Given the description of an element on the screen output the (x, y) to click on. 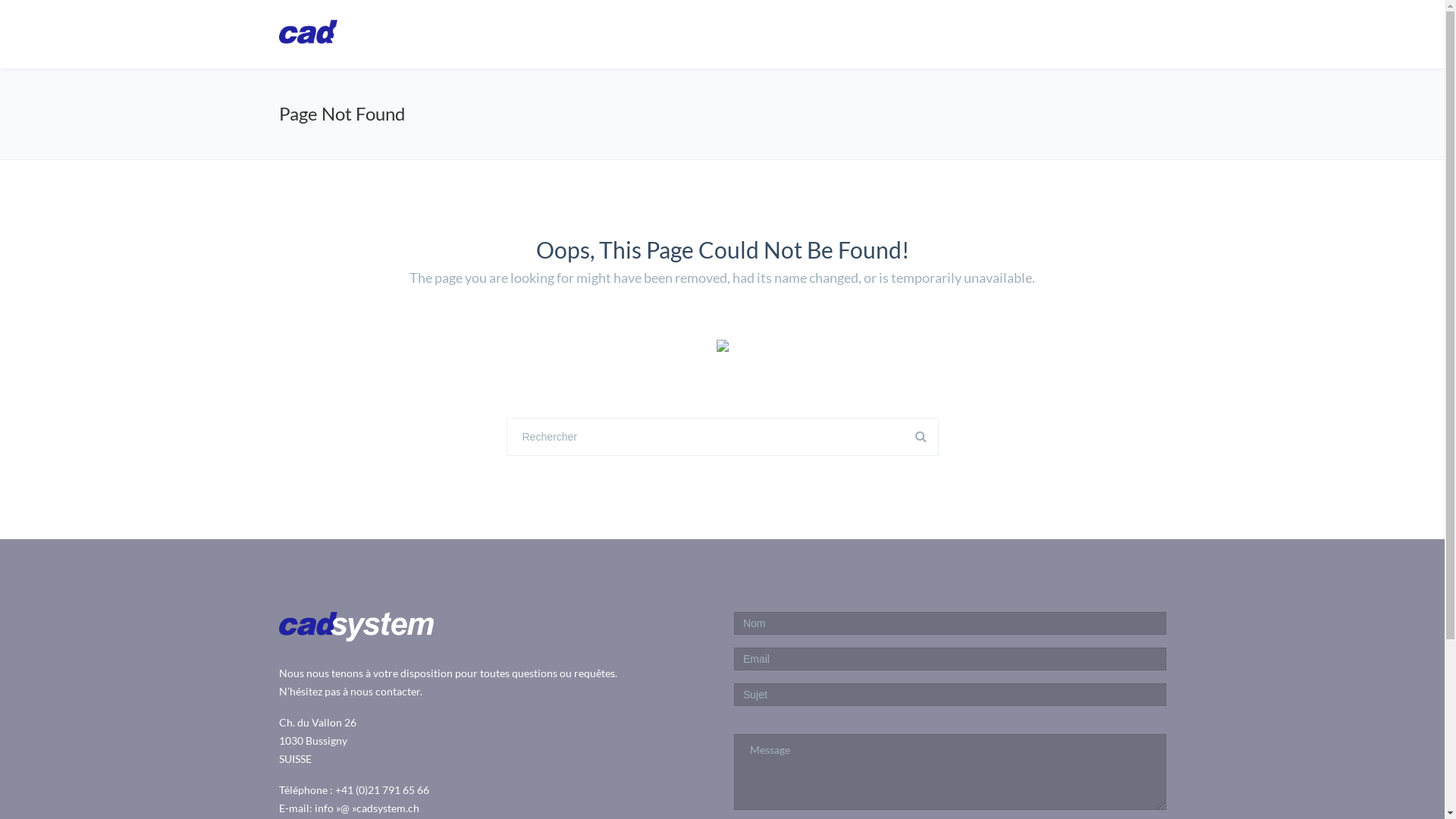
Homepage Element type: text (729, 33)
Downloads Element type: text (1082, 33)
Services Element type: text (992, 33)
CadARM Element type: text (819, 33)
Autodesk Element type: text (906, 33)
www.cad-system.ch Element type: hover (356, 34)
